Given the description of an element on the screen output the (x, y) to click on. 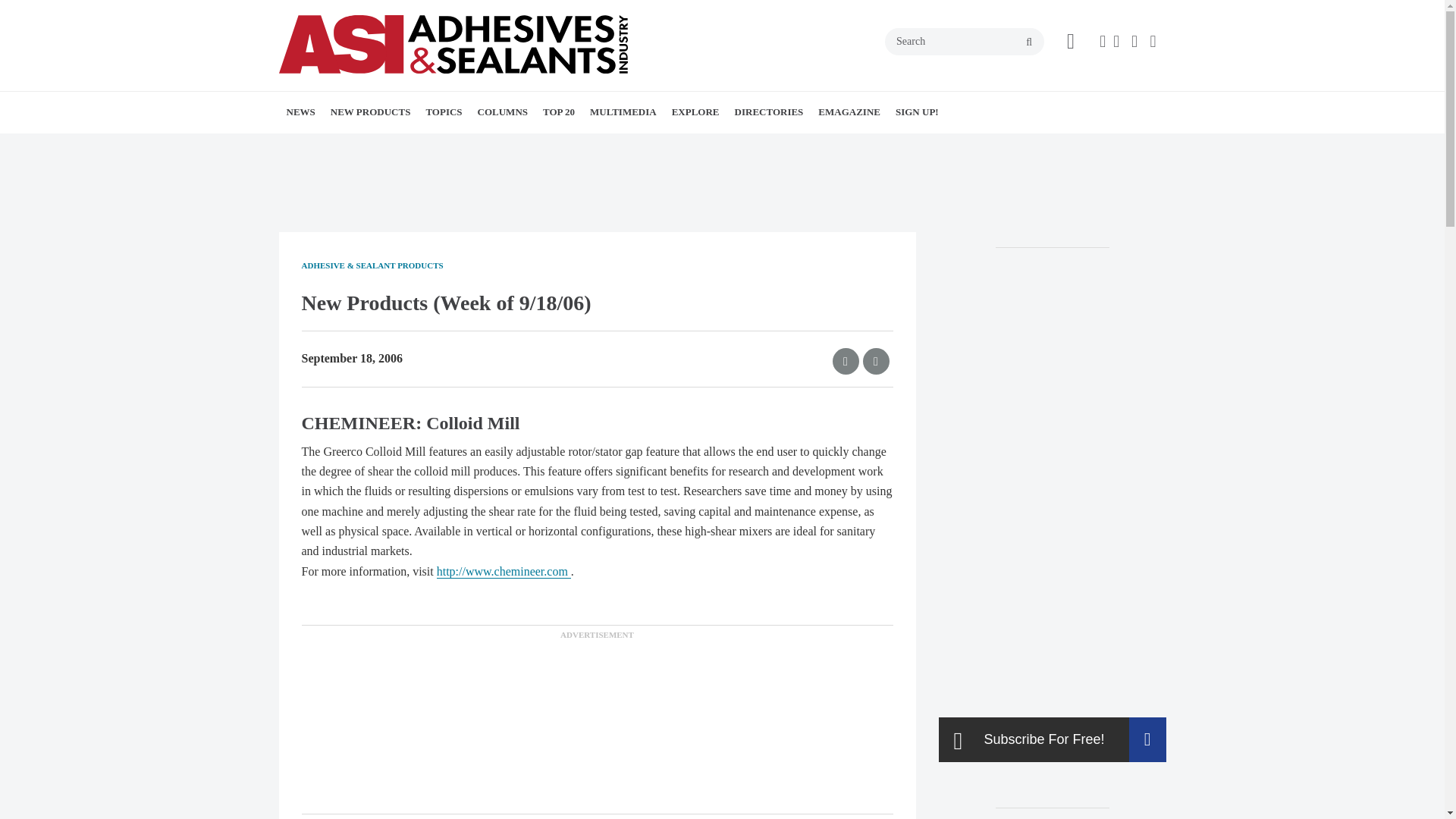
MARKET TRENDS (395, 145)
NEWS (301, 111)
COLUMNS (502, 111)
SUPPLY CHAIN STRATEGIES (577, 145)
TAPE TALK (582, 145)
SUSTAINABILITY (564, 145)
COATINGS (533, 145)
Search (964, 41)
NEW PRODUCTS (371, 111)
TOPICS (442, 111)
